Given the description of an element on the screen output the (x, y) to click on. 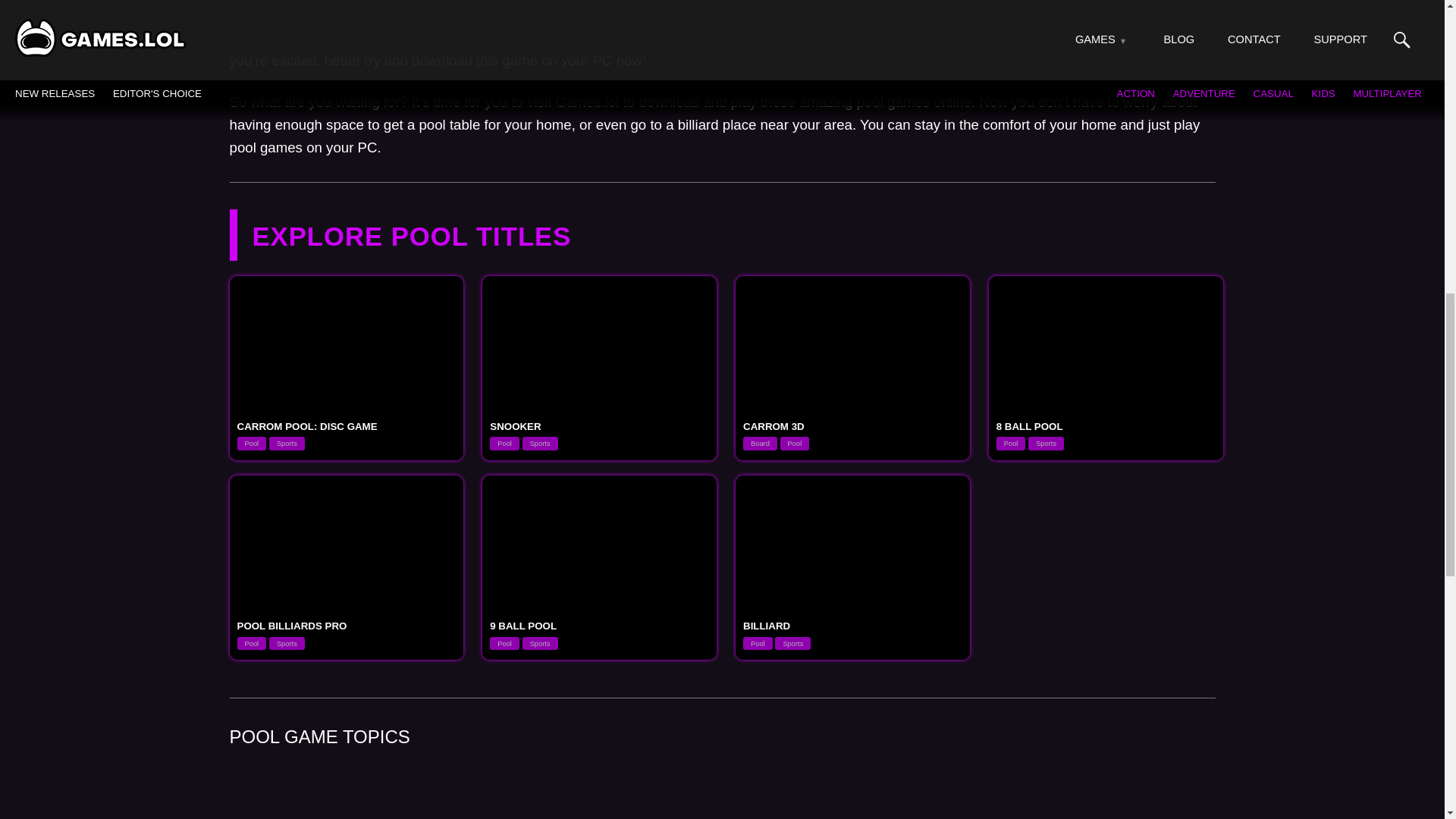
Sports (286, 443)
Pool (250, 443)
Pool (504, 443)
Board (759, 443)
Pool (794, 443)
Sports (539, 443)
